Given the description of an element on the screen output the (x, y) to click on. 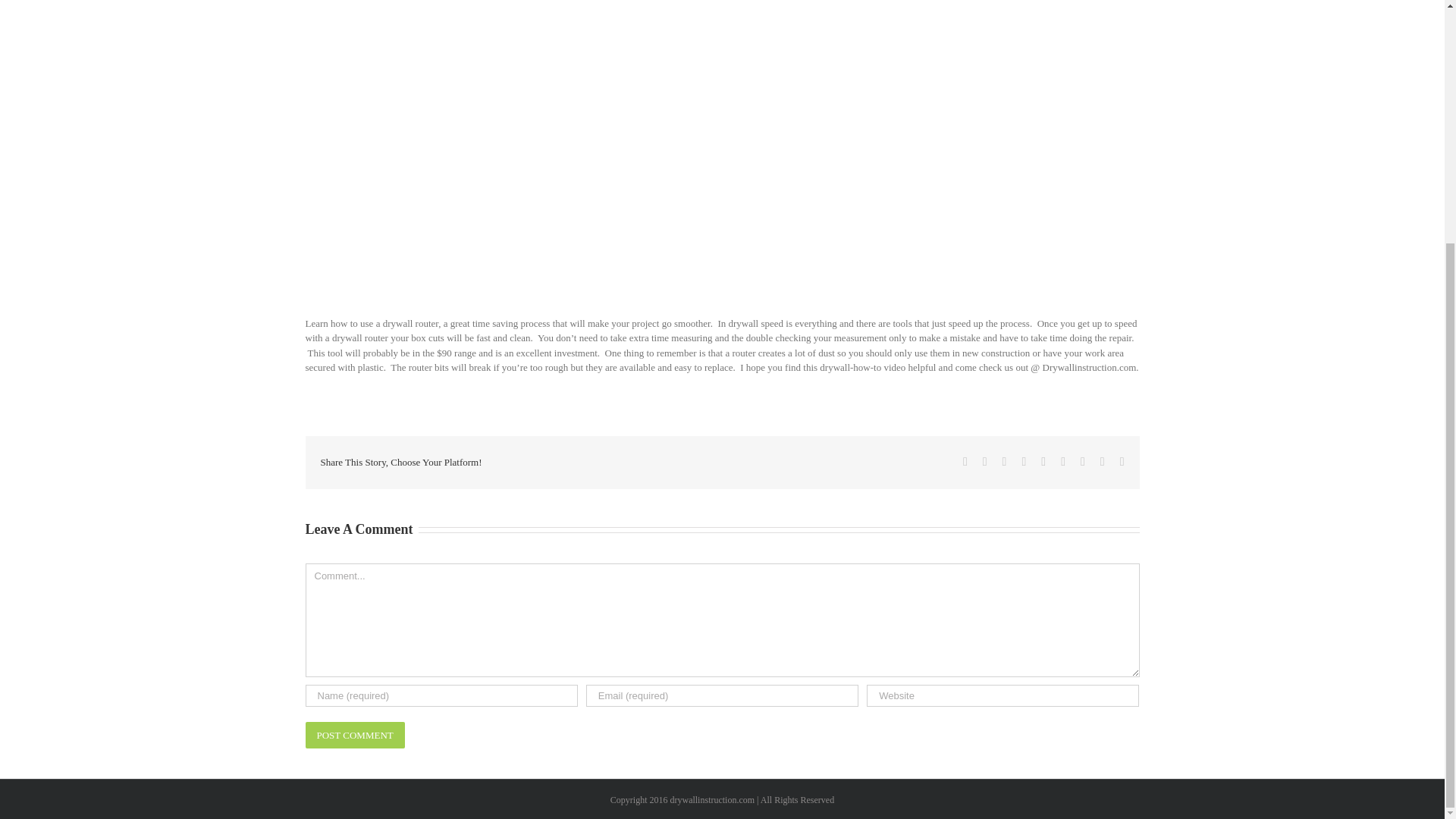
Post Comment (354, 735)
Post Comment (354, 735)
